Given the description of an element on the screen output the (x, y) to click on. 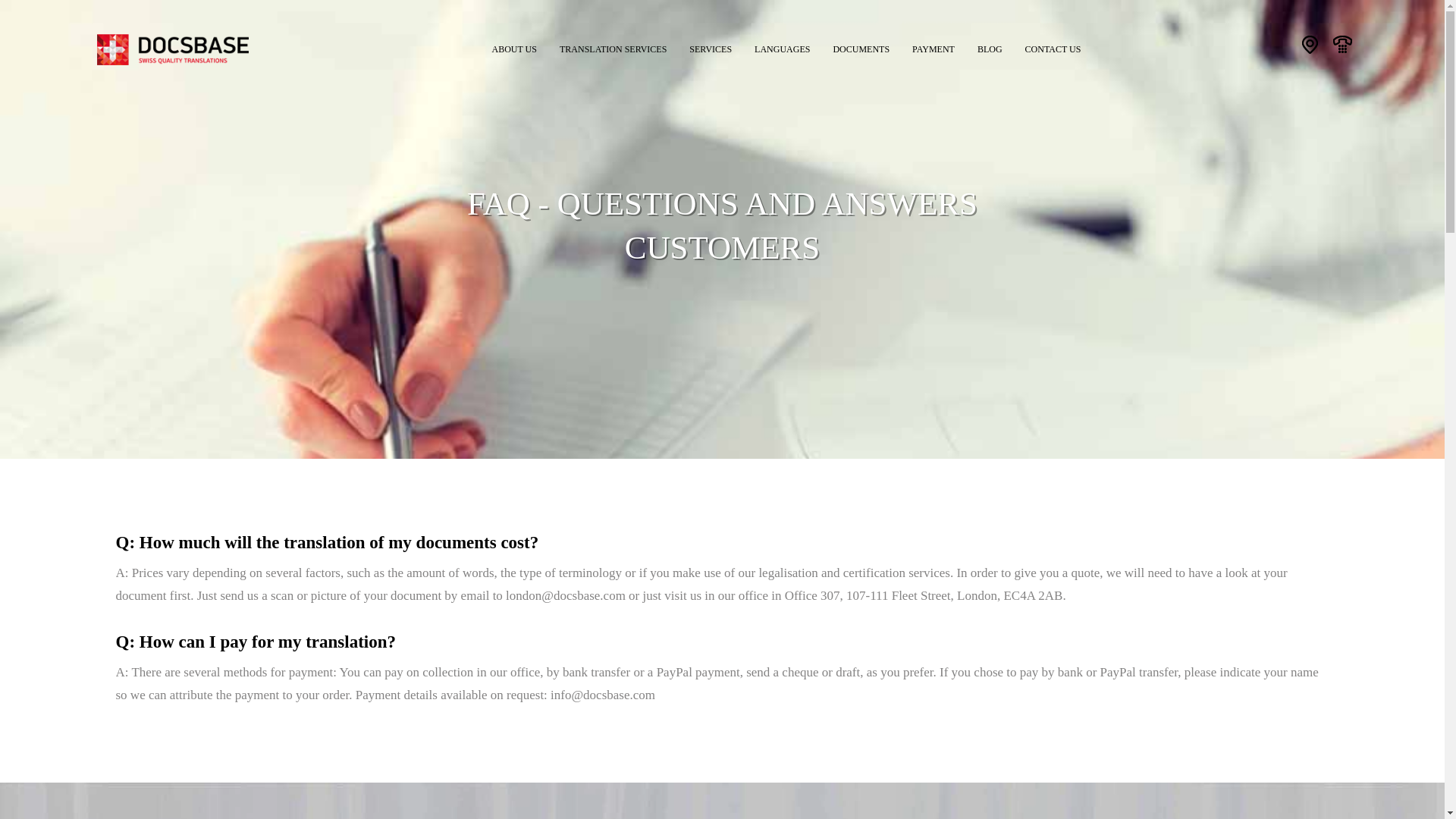
TRANSLATION SERVICES (613, 46)
FAQ - Questions and answers customers (172, 54)
ABOUT US (514, 46)
About Us (514, 46)
